Given the description of an element on the screen output the (x, y) to click on. 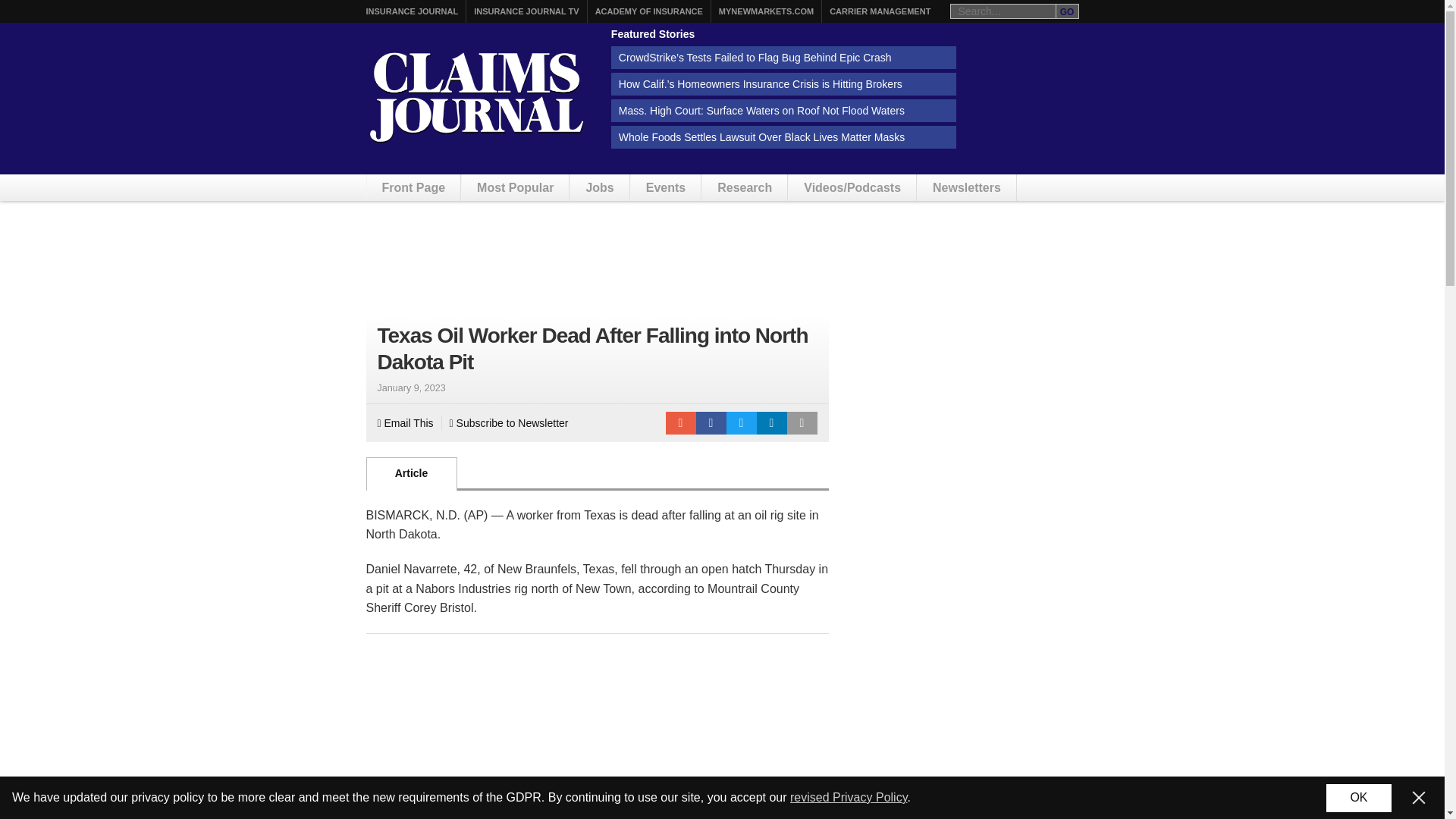
Subscribe to Newsletter (509, 422)
Print Article (801, 422)
Article (411, 473)
Research (744, 187)
Share on Twitter. (741, 422)
Most Popular (515, 187)
Mass. High Court: Surface Waters on Roof Not Flood Waters (783, 110)
ACADEMY OF INSURANCE (649, 11)
Facebook (710, 422)
CARRIER MANAGEMENT (879, 11)
Whole Foods Settles Lawsuit Over Black Lives Matter Masks (783, 137)
Front Page (413, 187)
LinkedIn (772, 422)
INSURANCE JOURNAL (411, 11)
Email to a friend (680, 422)
